Given the description of an element on the screen output the (x, y) to click on. 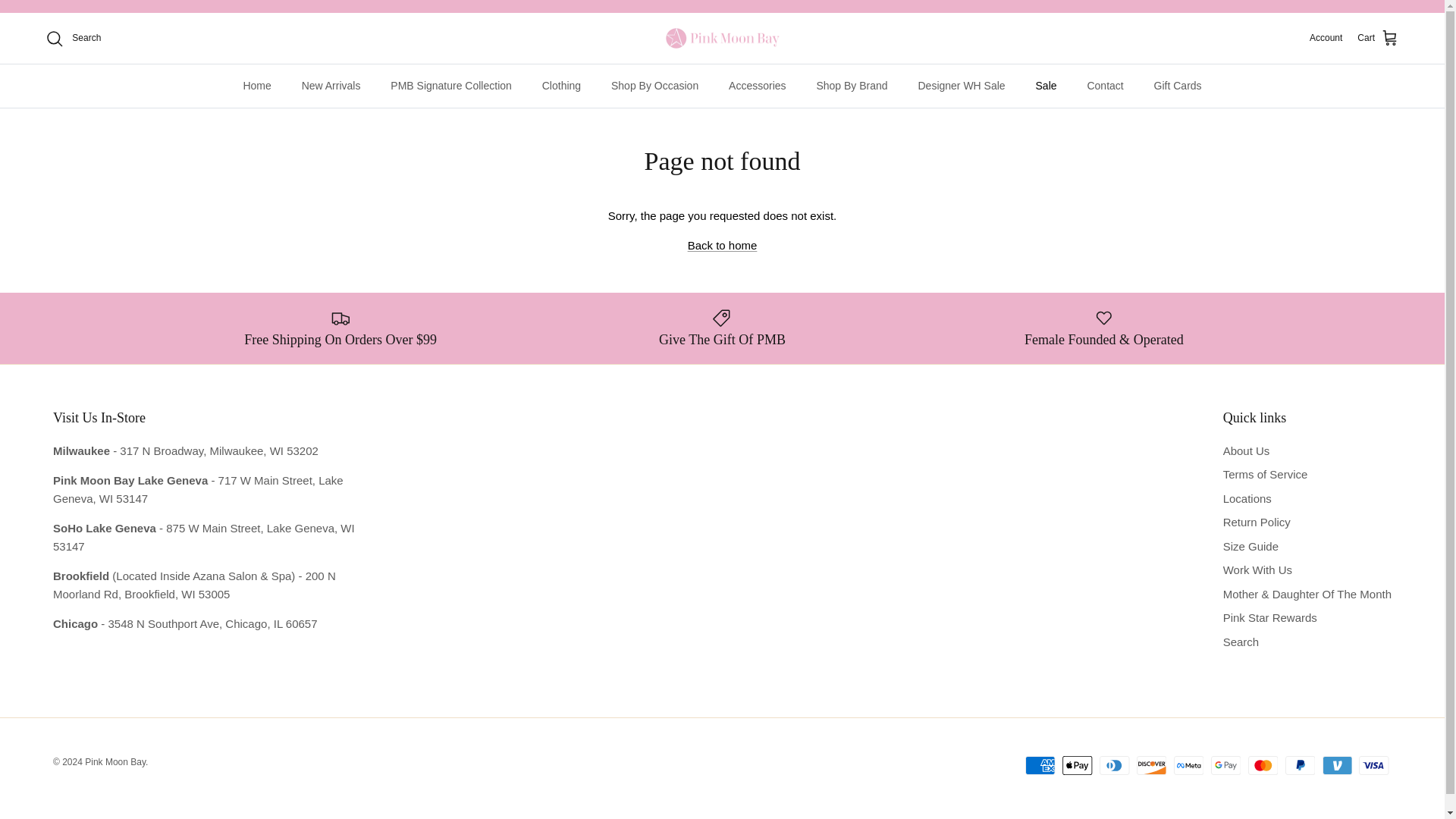
New Arrivals (331, 85)
PMB Signature Collection (451, 85)
Discover (1151, 764)
Cart (1377, 38)
Diners Club (1114, 764)
Google Pay (1225, 764)
Apple Pay (1077, 764)
Meta Pay (1188, 764)
Home (255, 85)
Venmo (1337, 764)
